Given the description of an element on the screen output the (x, y) to click on. 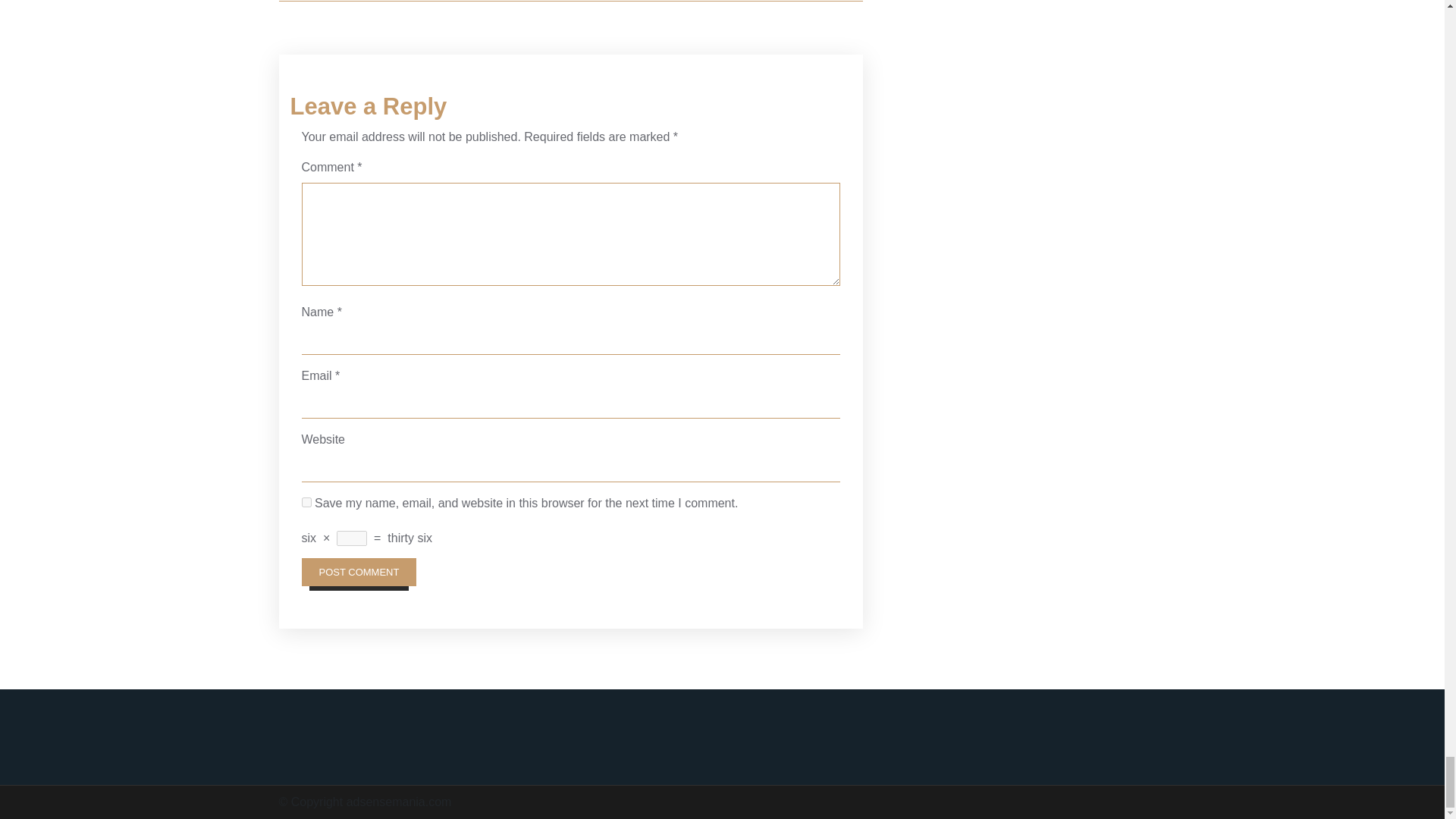
Post Comment (358, 572)
Post Comment (358, 572)
yes (306, 501)
